Given the description of an element on the screen output the (x, y) to click on. 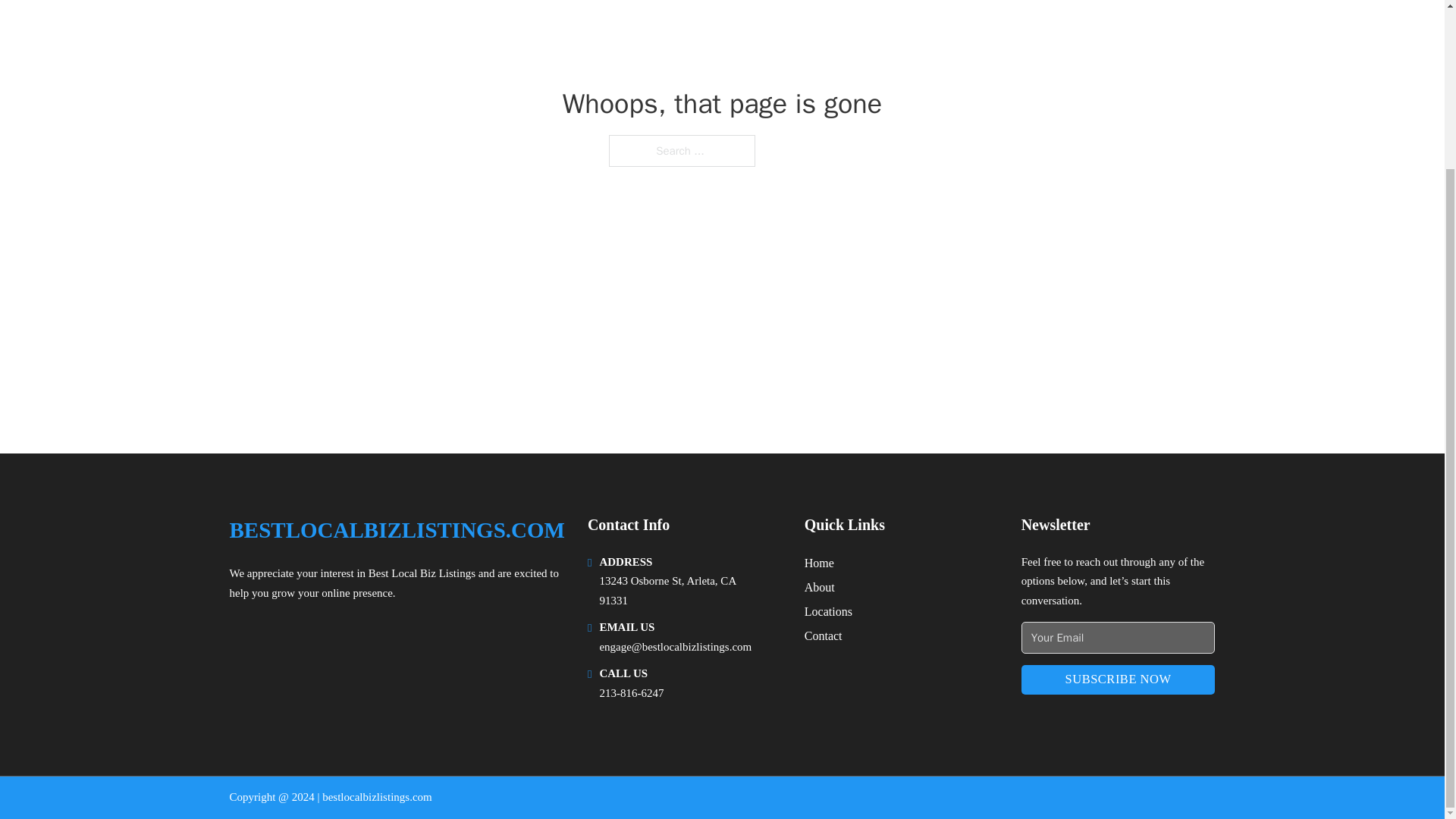
Locations (828, 611)
SUBSCRIBE NOW (1118, 679)
Home (819, 562)
Contact (824, 635)
BESTLOCALBIZLISTINGS.COM (396, 529)
About (819, 587)
213-816-6247 (630, 693)
